Given the description of an element on the screen output the (x, y) to click on. 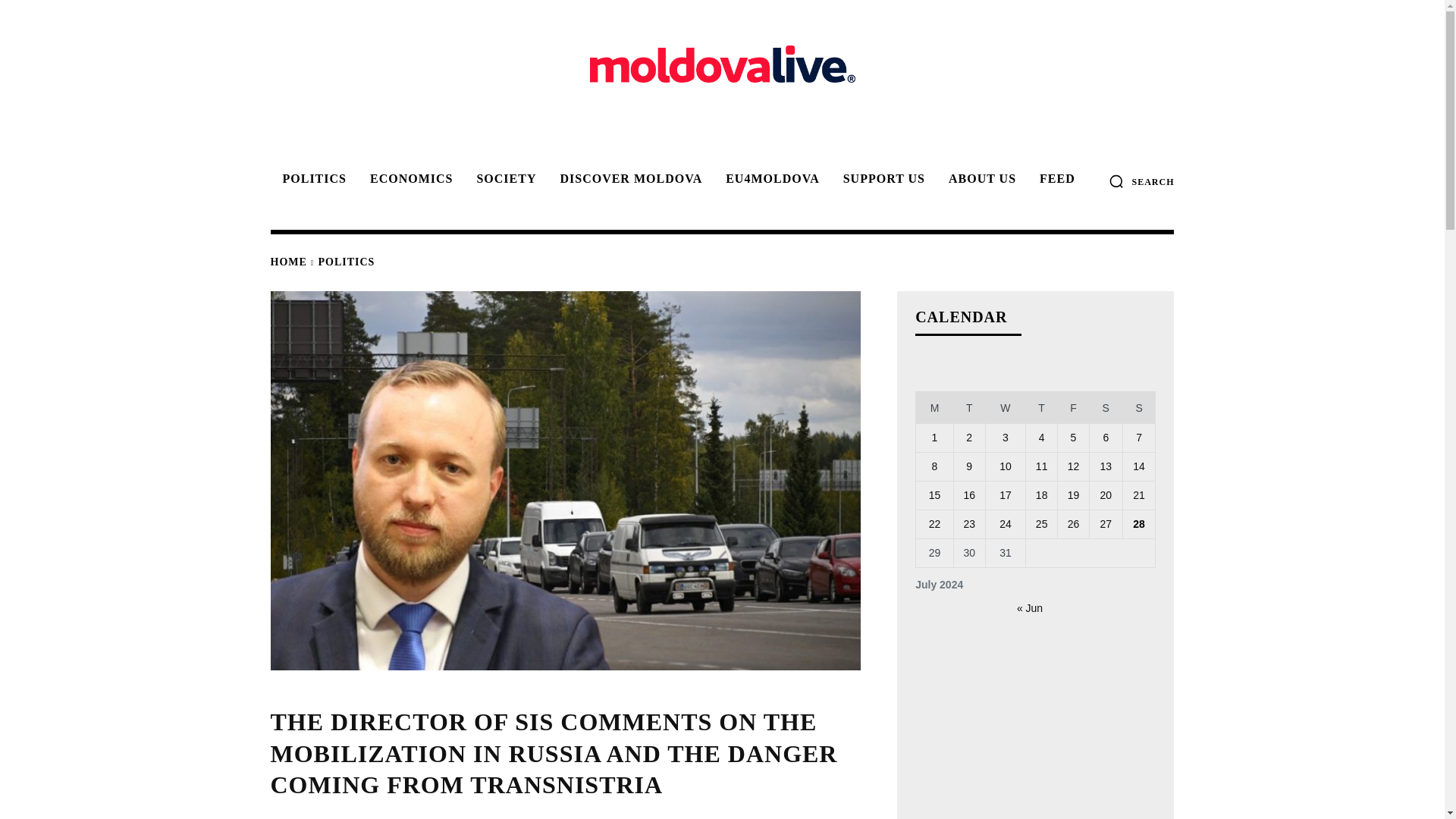
View all posts in Politics (346, 261)
SUPPORT US (882, 178)
EU4MOLDOVA (770, 178)
POLITICS (346, 261)
SOCIETY (503, 178)
ECONOMICS (409, 178)
DISCOVER MOLDOVA (628, 178)
ABOUT US (979, 178)
POLITICS (311, 178)
SEARCH (1140, 181)
HOME (287, 261)
FEED (1055, 178)
